Given the description of an element on the screen output the (x, y) to click on. 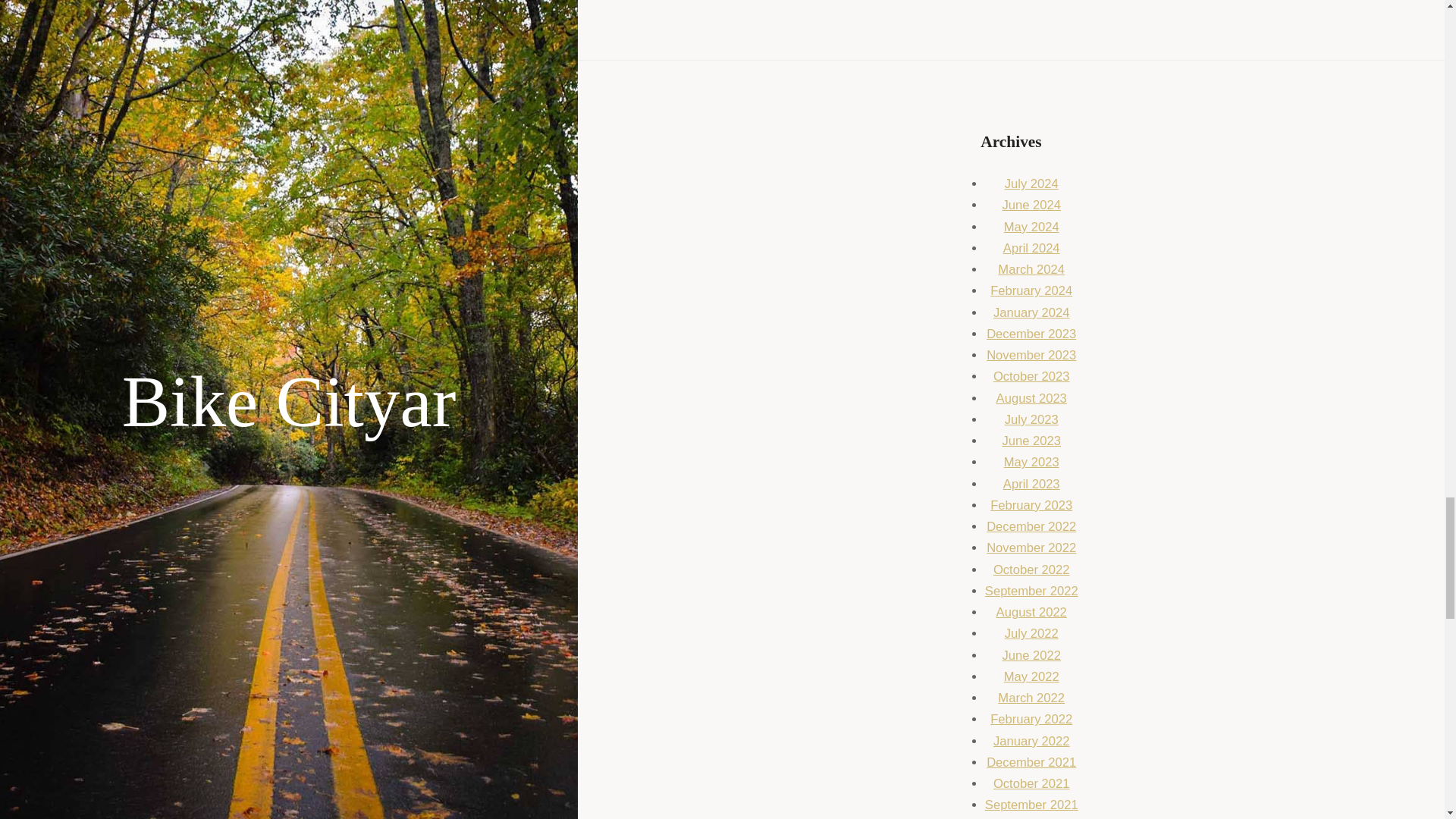
August 2023 (1031, 398)
July 2022 (1031, 633)
July 2023 (1031, 419)
March 2024 (1030, 269)
June 2023 (1031, 440)
October 2022 (1031, 569)
August 2022 (1031, 612)
April 2023 (1031, 483)
December 2023 (1031, 333)
July 2024 (1031, 183)
November 2023 (1031, 355)
January 2024 (1031, 312)
October 2023 (1031, 376)
September 2022 (1031, 590)
November 2022 (1031, 547)
